Given the description of an element on the screen output the (x, y) to click on. 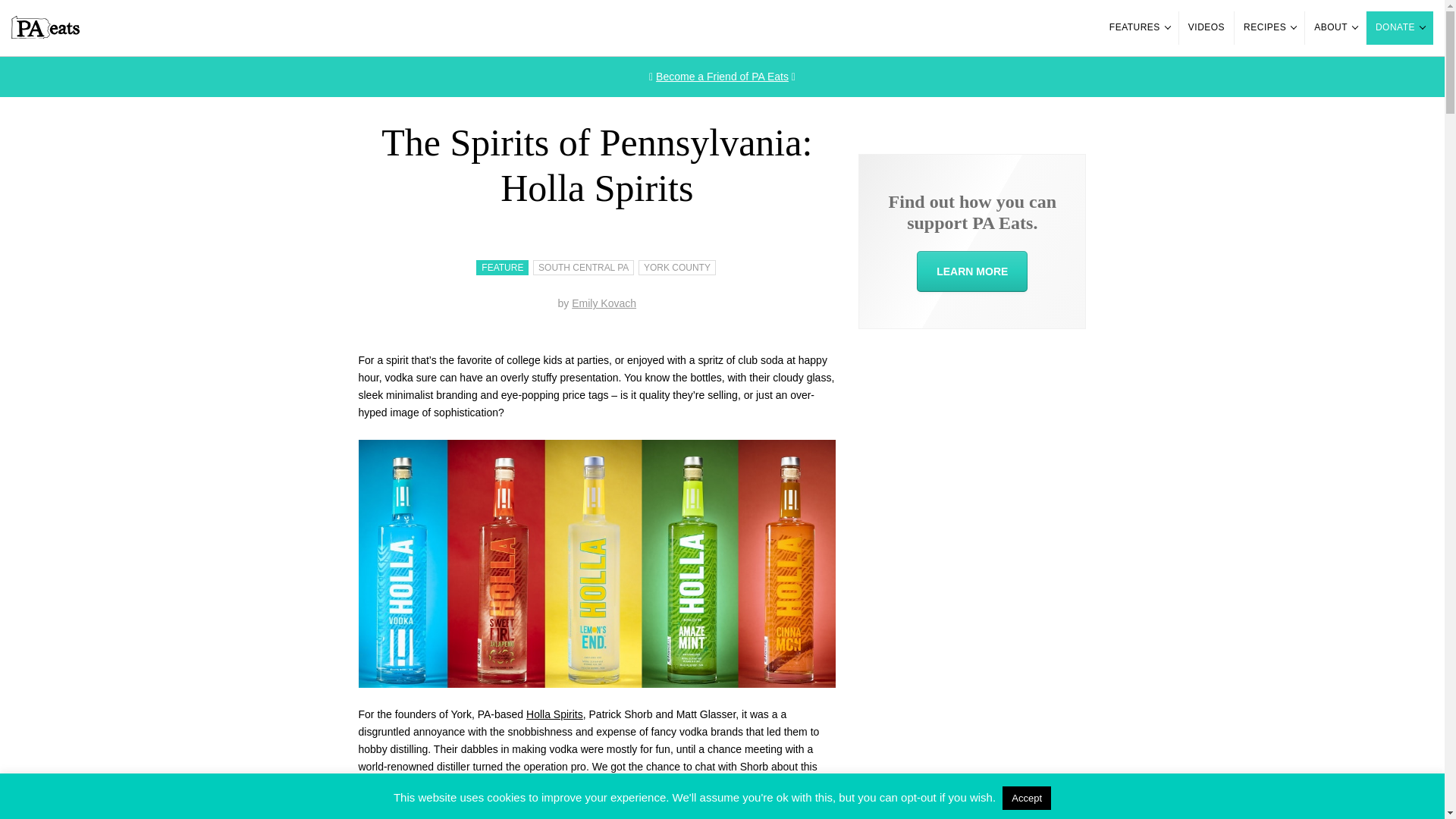
RECIPES (1269, 28)
FEATURES (1138, 28)
DONATE (1399, 28)
VIDEOS (1206, 28)
PA Eats Logo (45, 26)
ABOUT (1334, 28)
PA Eats Logo (45, 34)
